Given the description of an element on the screen output the (x, y) to click on. 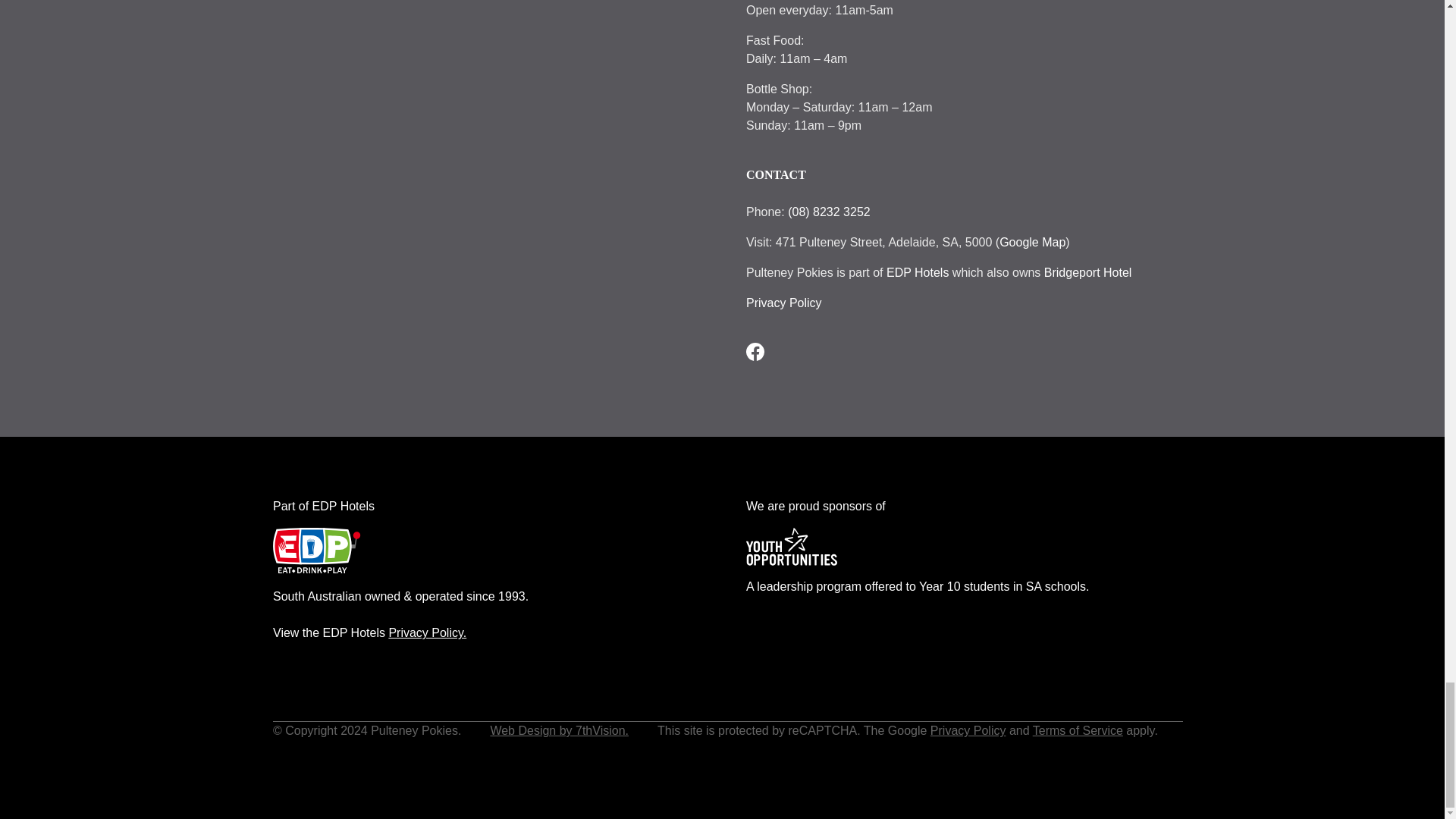
EDP Hotels (917, 272)
Google Map (1031, 241)
Bridgeport Hotel (1087, 272)
